Given the description of an element on the screen output the (x, y) to click on. 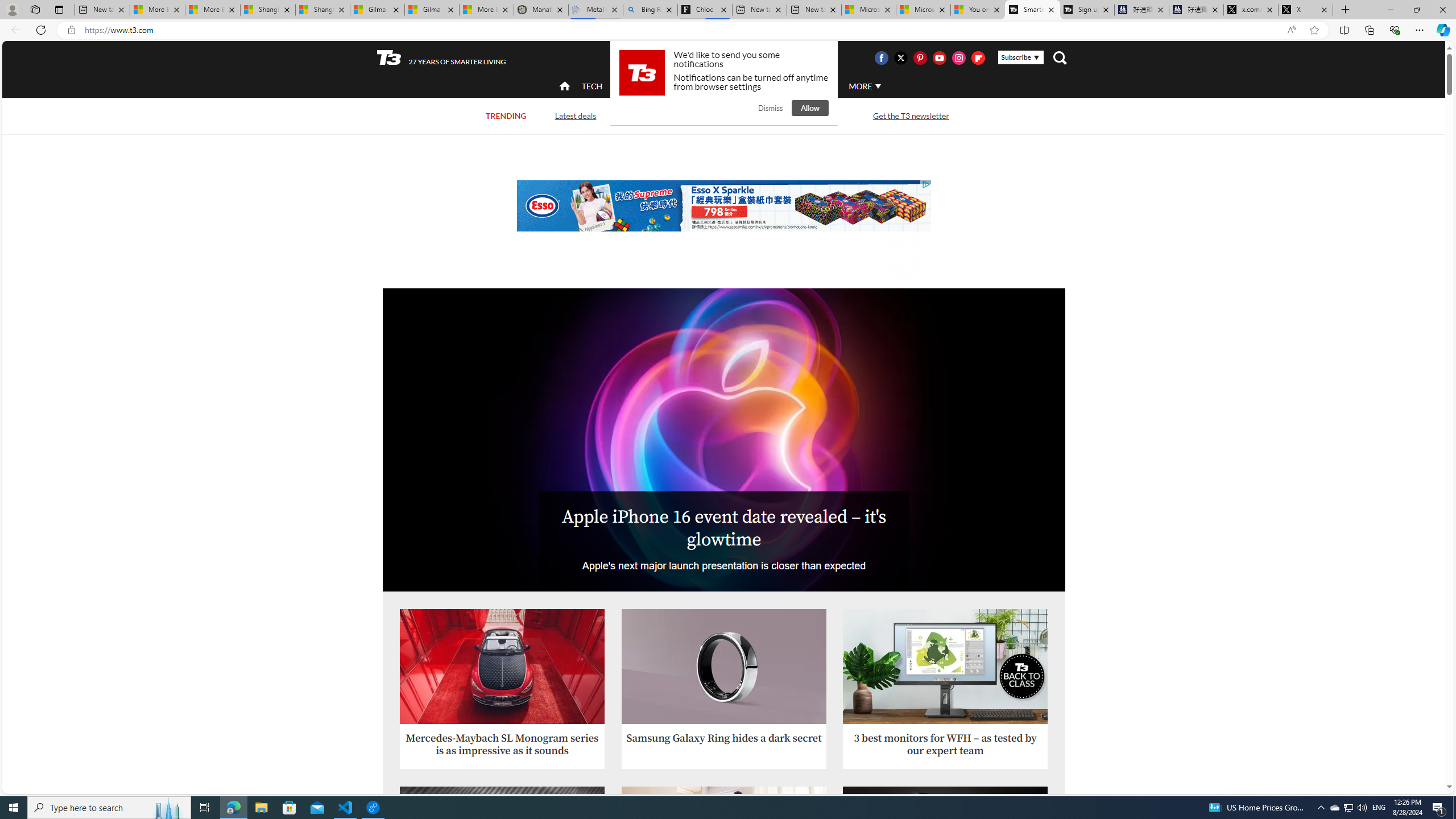
Bing Real Estate - Home sales and rental listings (650, 9)
LUXURY (765, 86)
Chloe Sorvino (704, 9)
AOC U27P2CA (945, 666)
Dismiss (770, 107)
MORE  (863, 86)
Samsung Galaxy Ring hides a dark secret (724, 689)
UK Edition (736, 57)
Mercedes-Maybach SL Monogram Series (501, 666)
AUTO (815, 86)
